Given the description of an element on the screen output the (x, y) to click on. 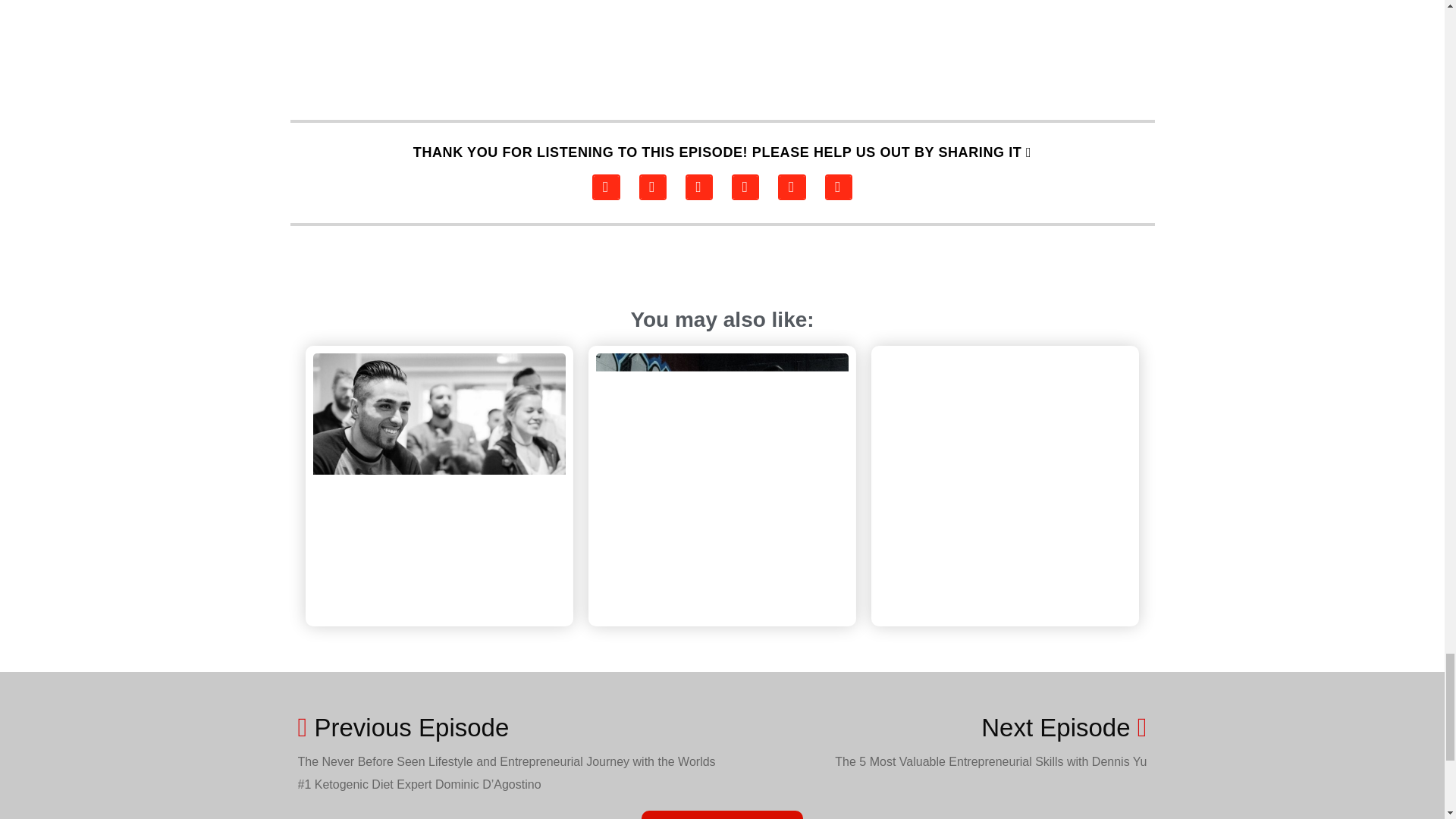
Previous Episode (509, 727)
The 5 Most Valuable Entrepreneurial Skills with Dennis Yu (990, 762)
View All Podcasts (722, 814)
Next Episode (1064, 727)
